Given the description of an element on the screen output the (x, y) to click on. 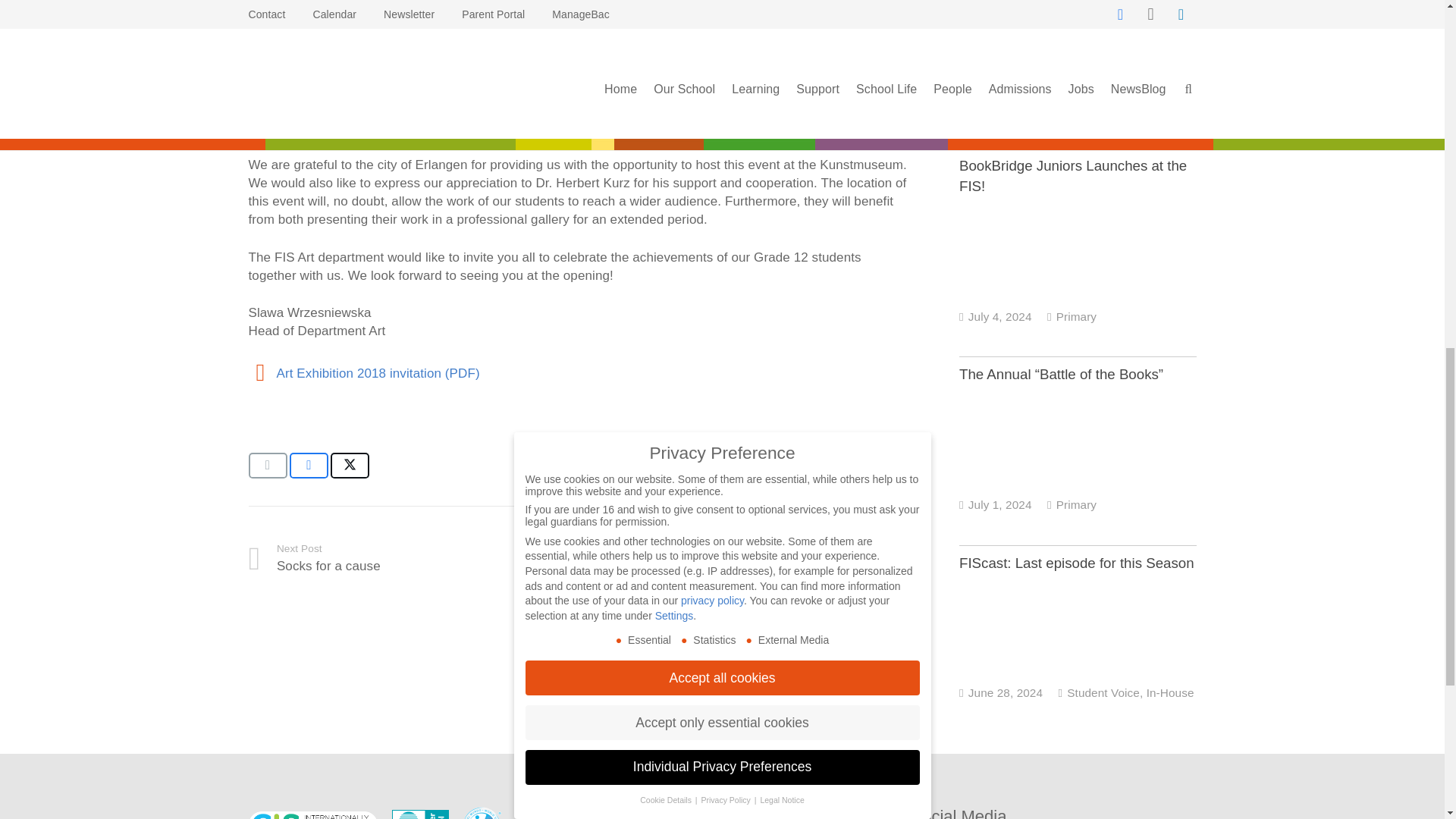
Back to top (1413, 26)
Share this (309, 465)
Email this (267, 465)
Socks for a cause (414, 558)
Tweet this (349, 465)
